Given the description of an element on the screen output the (x, y) to click on. 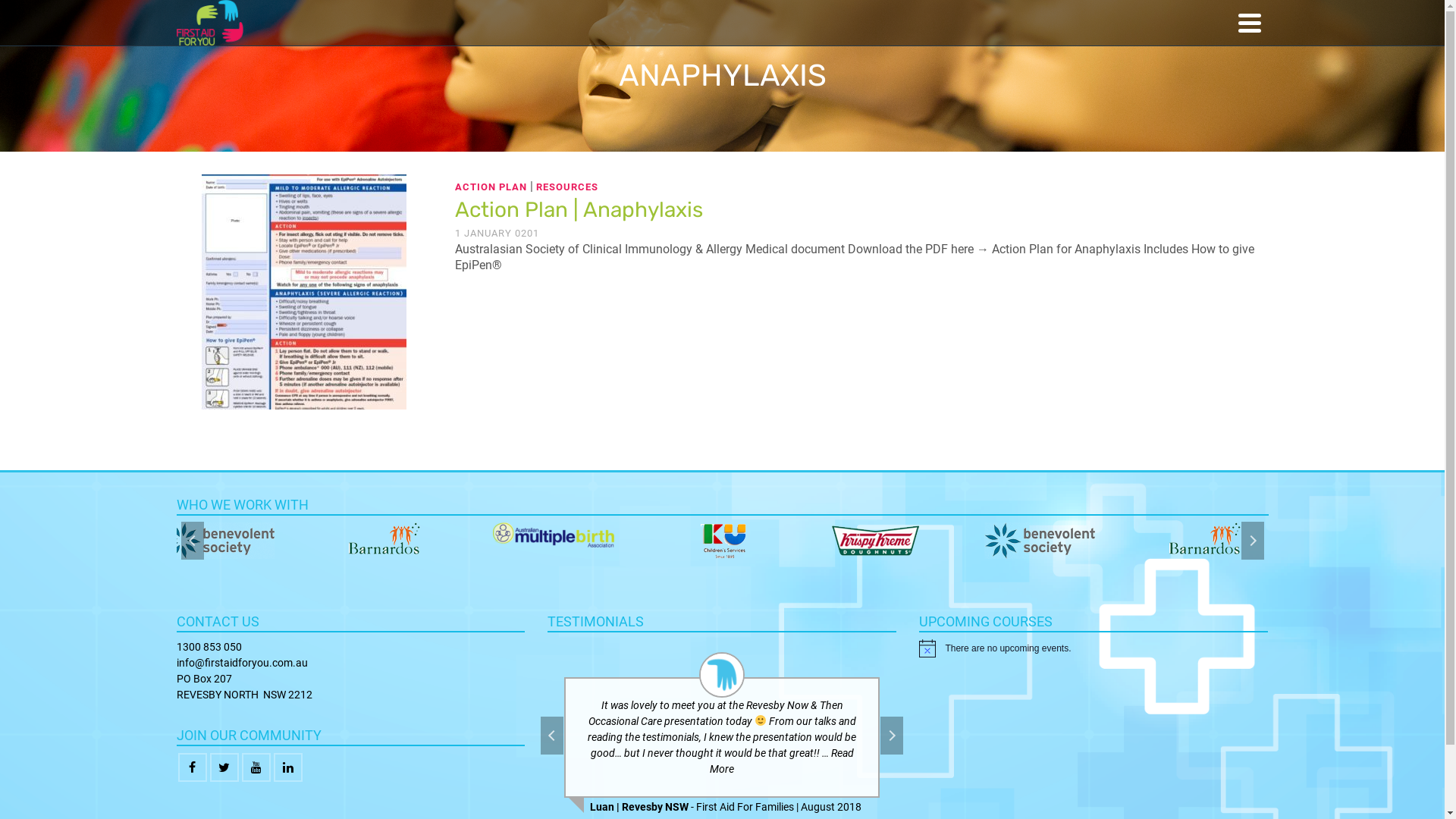
Read More Element type: text (781, 760)
Next Element type: text (891, 735)
RESOURCES Element type: text (567, 186)
Action Plan | Anaphylaxis Element type: hover (303, 290)
ACTION PLAN Element type: text (491, 186)
1300 853 050 Element type: text (208, 646)
Previous Element type: text (551, 735)
Action Plan | Anaphylaxis Element type: text (861, 209)
Previous Element type: text (191, 540)
Next Element type: text (1251, 540)
info@firstaidforyou.com.au Element type: text (241, 662)
